Given the description of an element on the screen output the (x, y) to click on. 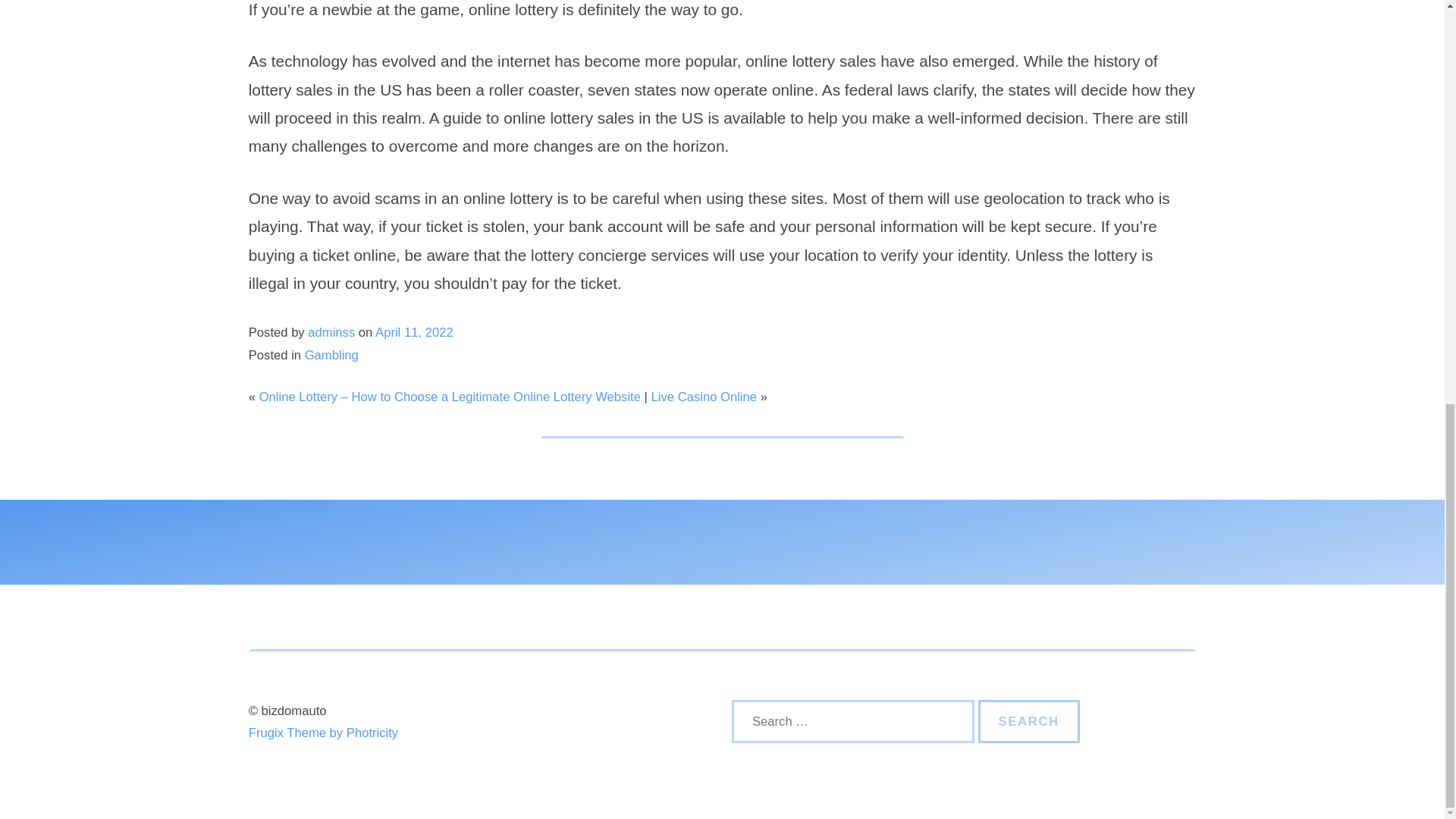
Live Casino Online (703, 396)
Search (1029, 721)
Gambling (331, 355)
Search (1029, 721)
Frugix Theme by Photricity (322, 732)
Search (1029, 721)
adminss (331, 332)
April 11, 2022 (413, 332)
